Given the description of an element on the screen output the (x, y) to click on. 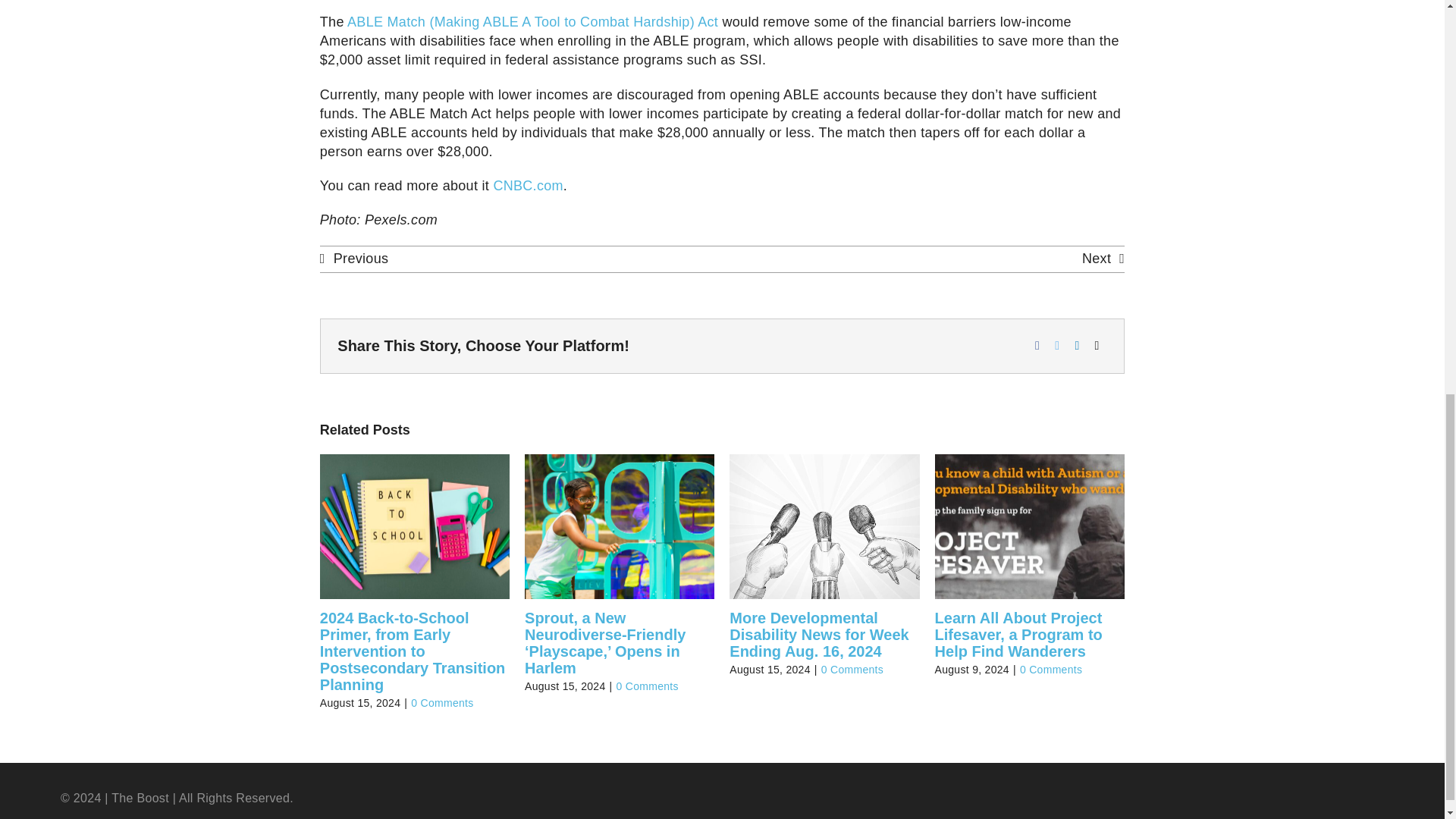
0 Comments (1050, 669)
Previous (354, 258)
CNBC.com (527, 185)
0 Comments (646, 686)
